Given the description of an element on the screen output the (x, y) to click on. 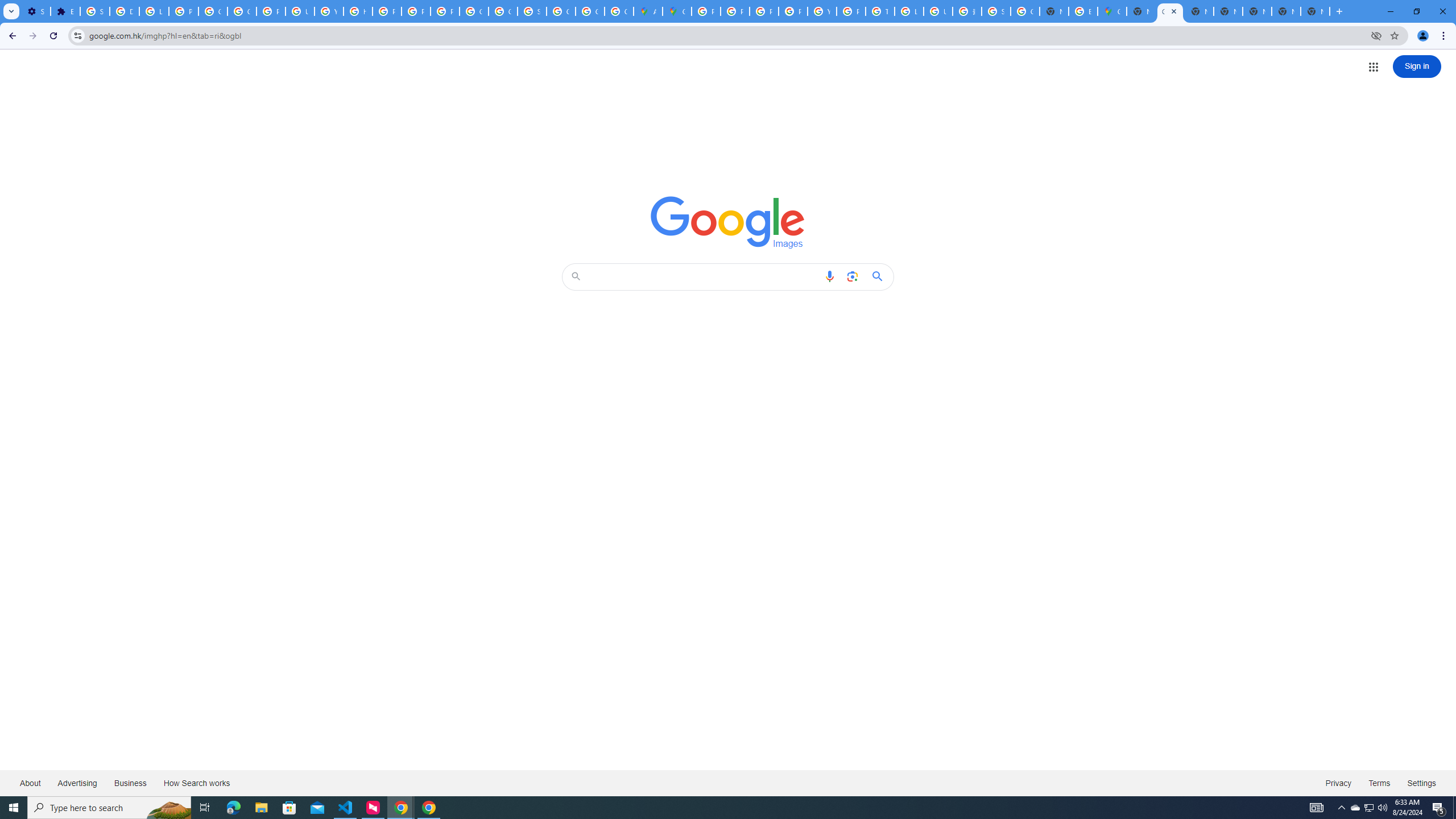
Create your Google Account (619, 11)
Privacy Help Center - Policies Help (734, 11)
Search by voice (829, 276)
Google Images (727, 222)
Extensions (65, 11)
Google Account Help (242, 11)
Privacy Help Center - Policies Help (386, 11)
